Given the description of an element on the screen output the (x, y) to click on. 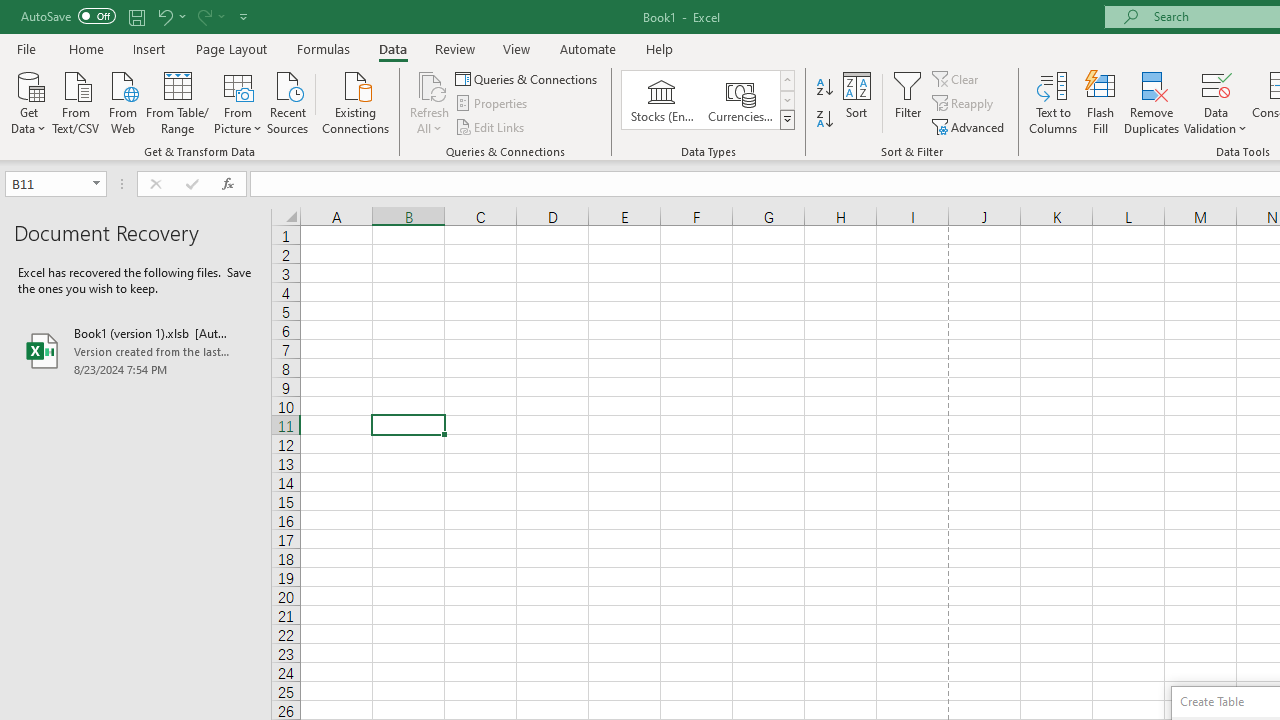
Flash Fill (1101, 102)
Filter (908, 102)
AutomationID: ConvertToLinkedEntity (708, 99)
Queries & Connections (527, 78)
Advanced... (970, 126)
Edit Links (491, 126)
Class: NetUIImage (787, 119)
